Given the description of an element on the screen output the (x, y) to click on. 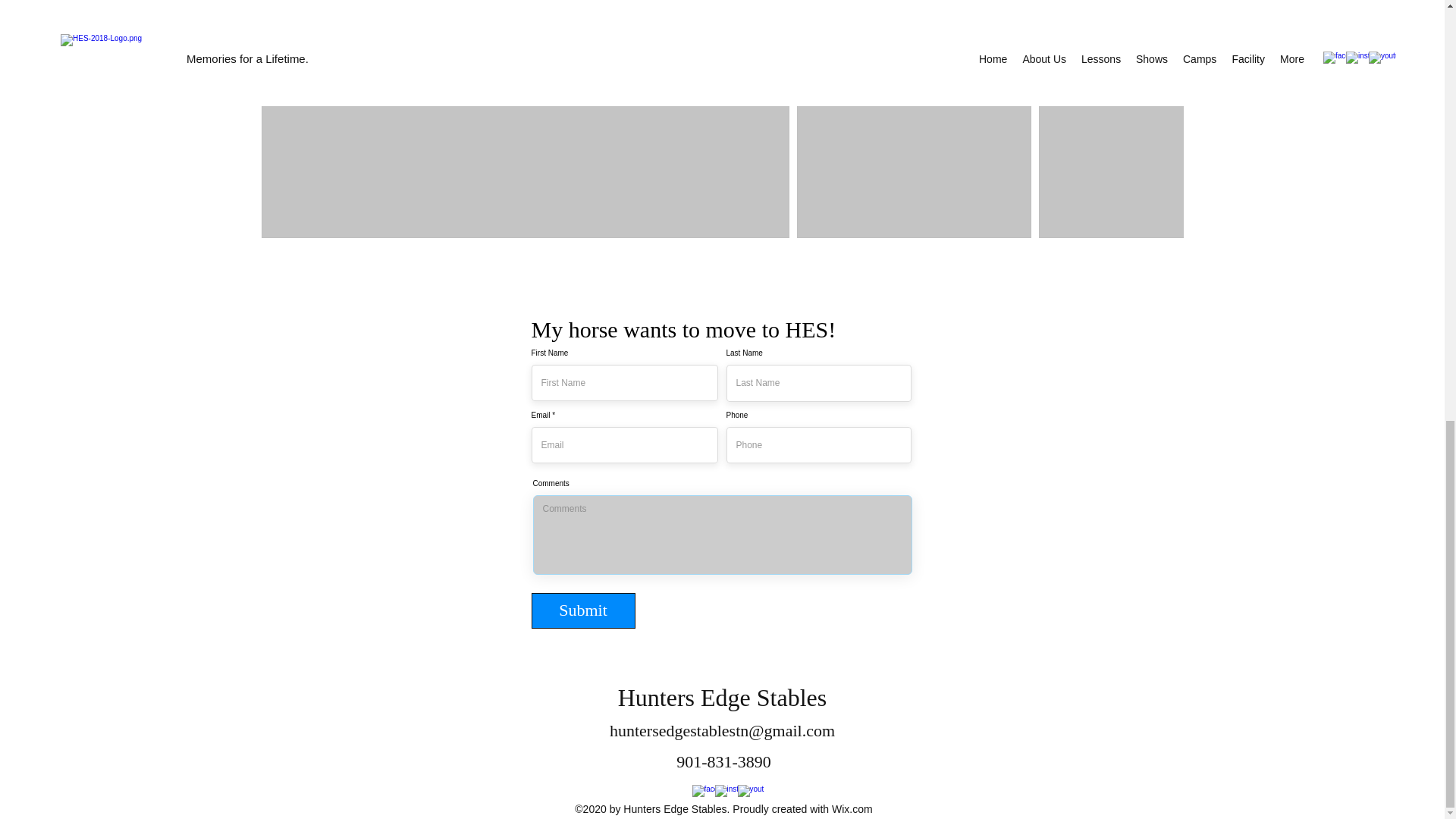
Submit (582, 610)
Hunters Edge Stables (722, 697)
